Given the description of an element on the screen output the (x, y) to click on. 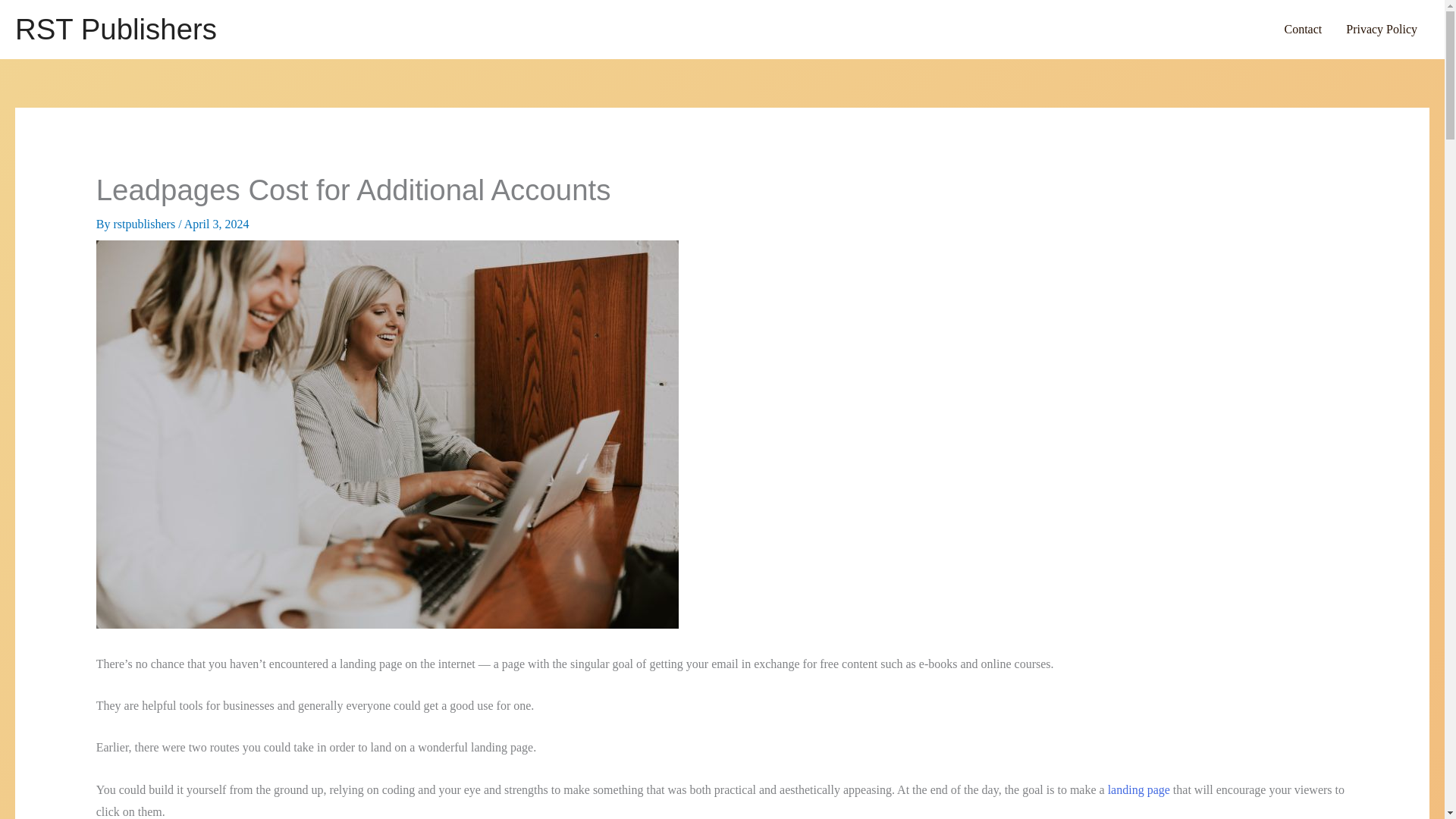
rstpublishers (145, 223)
View all posts by rstpublishers (145, 223)
landing page (1139, 789)
Privacy Policy (1381, 29)
RST Publishers (115, 29)
Contact (1302, 29)
